Given the description of an element on the screen output the (x, y) to click on. 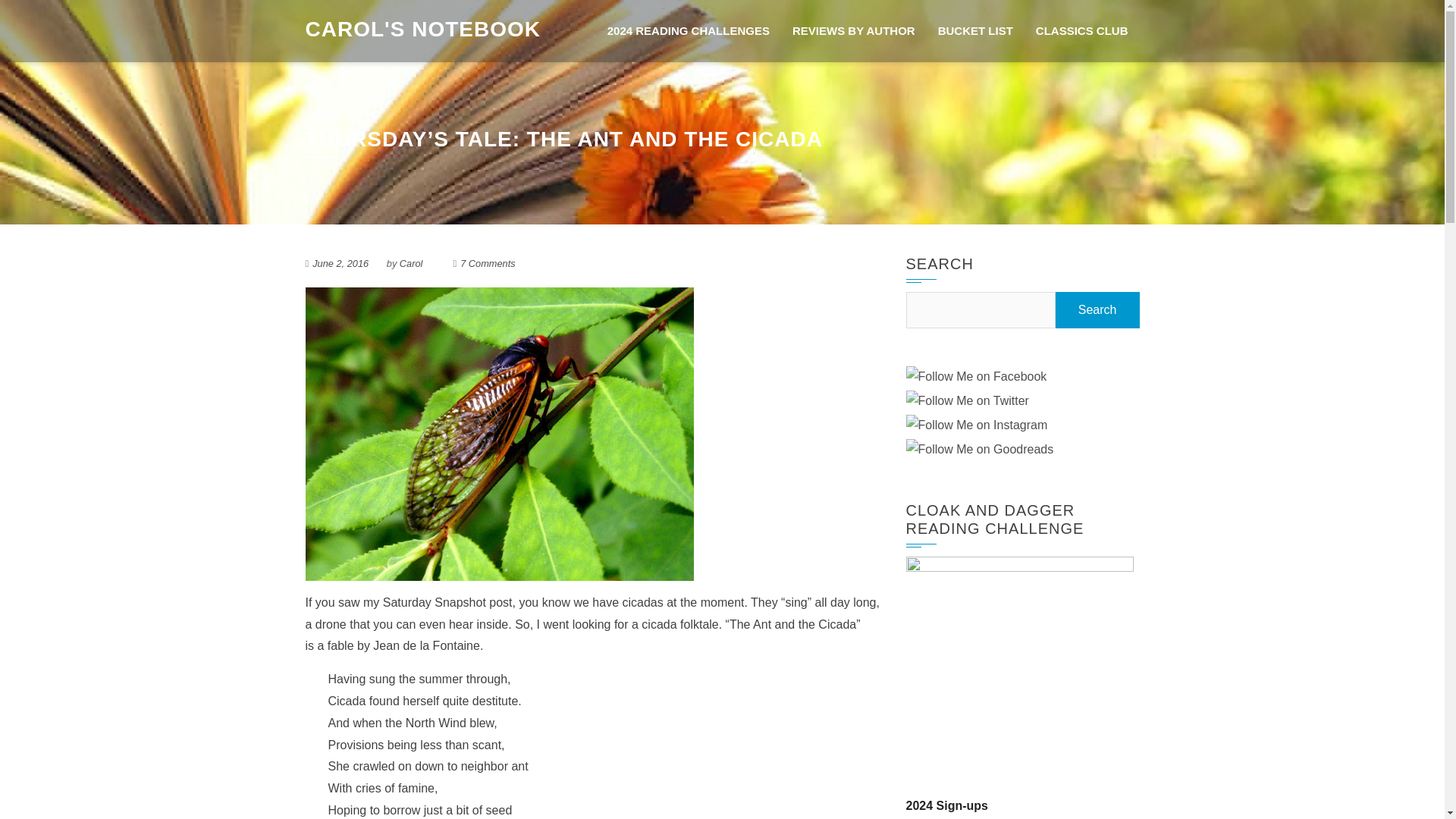
Follow Me on Instagram (975, 425)
CLASSICS CLUB (1082, 31)
2024 READING CHALLENGES (687, 31)
REVIEWS BY AUTHOR (853, 31)
CAROL'S NOTEBOOK (422, 28)
BUCKET LIST (975, 31)
Carol (410, 263)
Follow Me on Facebook (975, 377)
7 Comments (487, 263)
June 2, 2016 (340, 263)
